Given the description of an element on the screen output the (x, y) to click on. 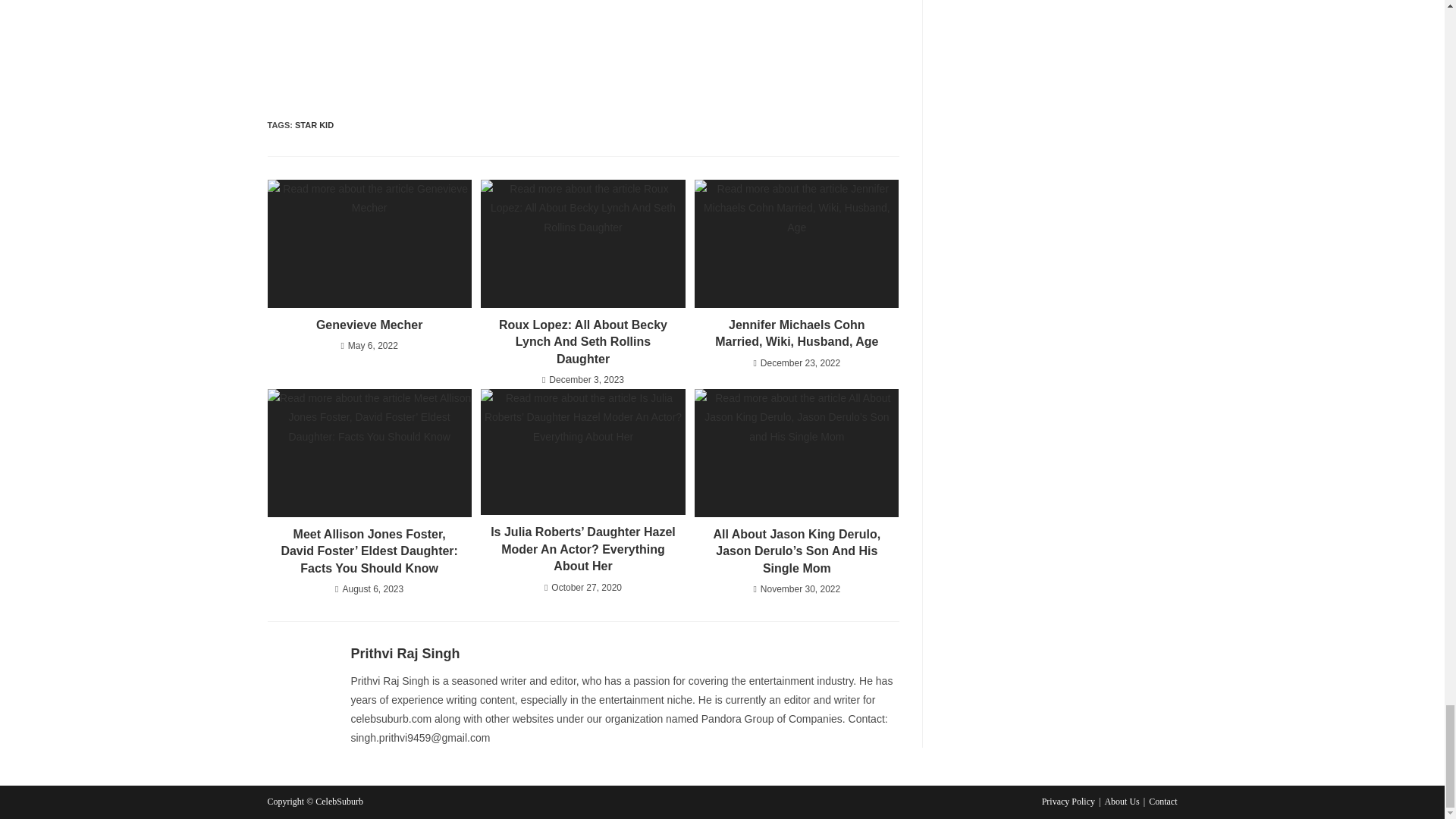
Genevieve Mecher (368, 324)
Roux Lopez: All About Becky Lynch And Seth Rollins Daughter (582, 341)
STAR KID (314, 124)
Jennifer Michaels Cohn Married, Wiki, Husband, Age (796, 333)
Visit author page (405, 653)
